Given the description of an element on the screen output the (x, y) to click on. 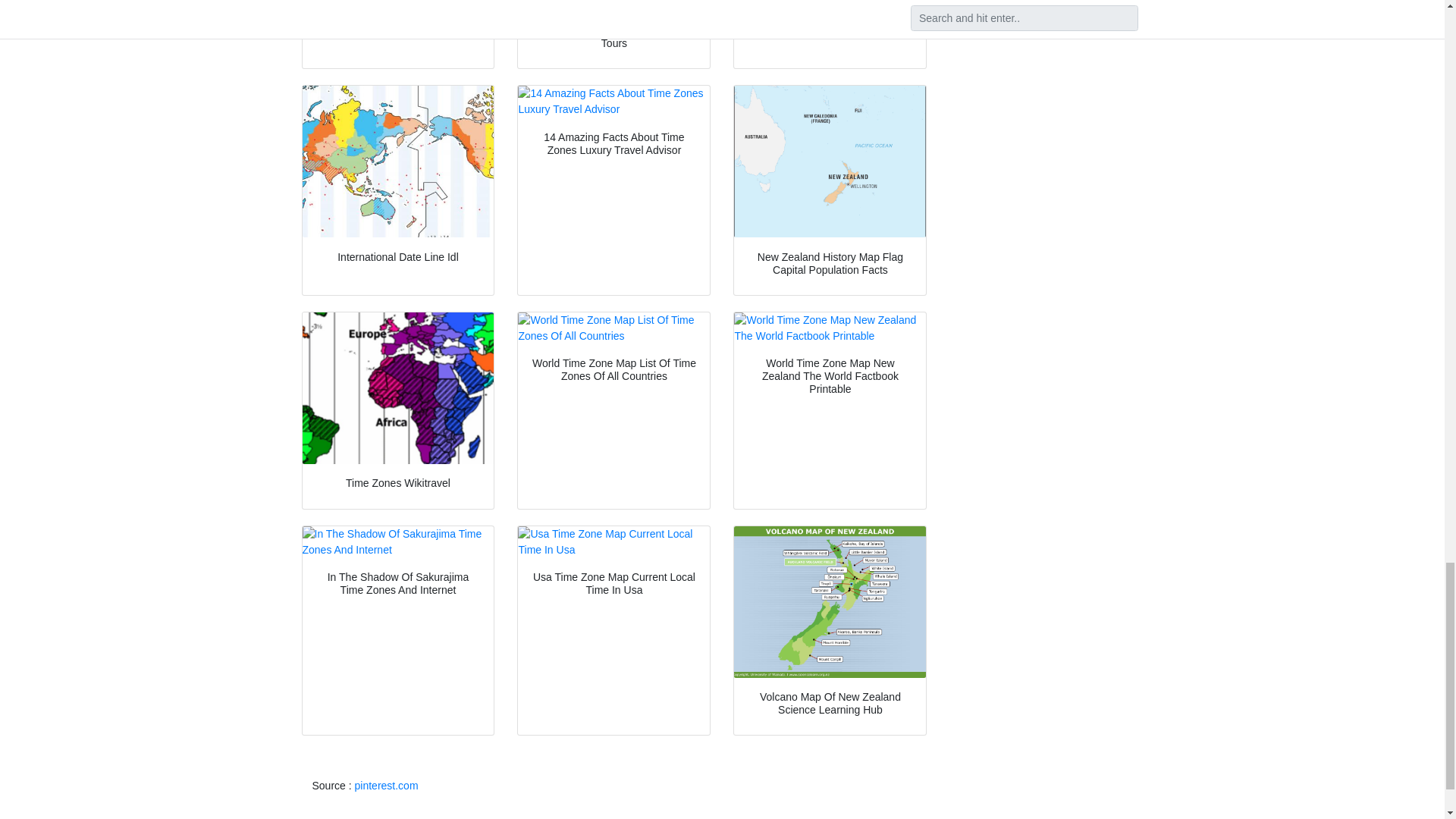
pinterest.com (387, 785)
